Given the description of an element on the screen output the (x, y) to click on. 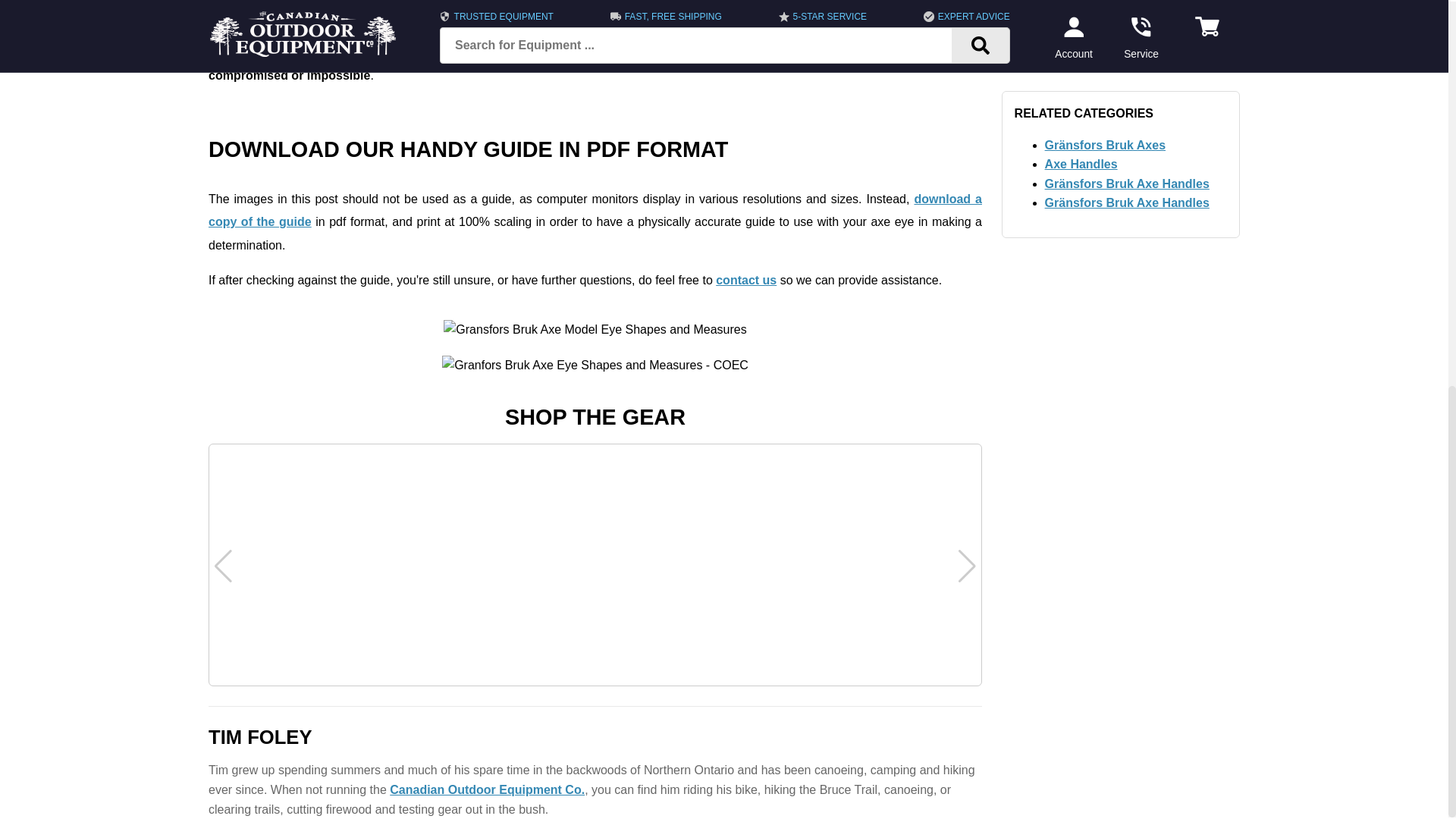
Canadian Outdoor Equipment Co. (487, 789)
contact us (746, 279)
download a copy of the guide (594, 210)
